Given the description of an element on the screen output the (x, y) to click on. 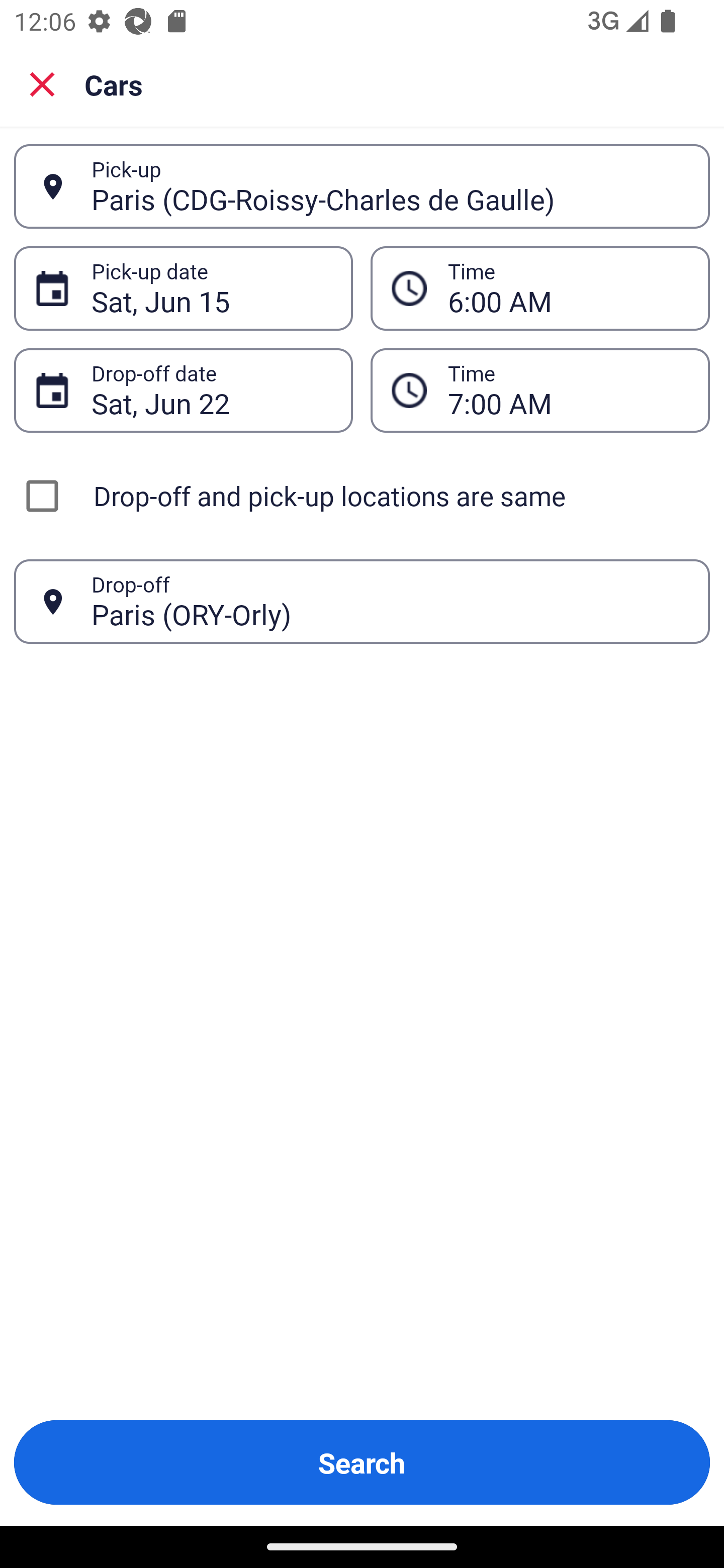
Close search screen (42, 84)
Paris (CDG-Roissy-Charles de Gaulle) (389, 186)
Sat, Jun 15 (211, 288)
6:00 AM (568, 288)
Sat, Jun 22 (211, 390)
7:00 AM (568, 390)
Drop-off and pick-up locations are same (361, 495)
Paris (ORY-Orly) (389, 601)
Search Button Search (361, 1462)
